Given the description of an element on the screen output the (x, y) to click on. 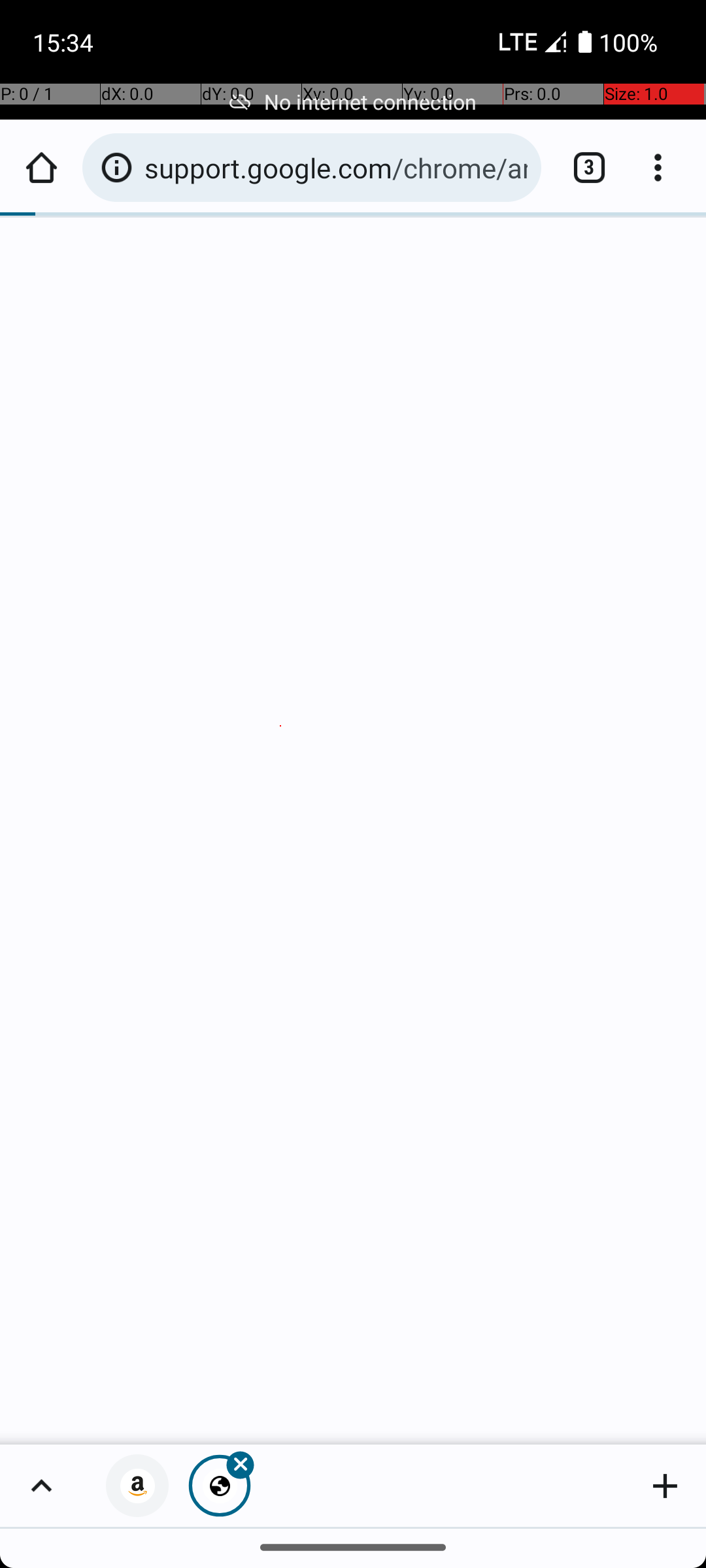
Show group's tabs in fullscreen grid Element type: android.widget.ImageView (41, 1485)
Add new tab to group Element type: android.widget.ImageView (664, 1485)
support.google.com/chrome/answer/6098869#-201 Element type: android.widget.EditText (335, 167)
Privacy error, tab Element type: android.widget.ImageButton (137, 1485)
Close  tab Element type: android.widget.ImageButton (219, 1485)
